Given the description of an element on the screen output the (x, y) to click on. 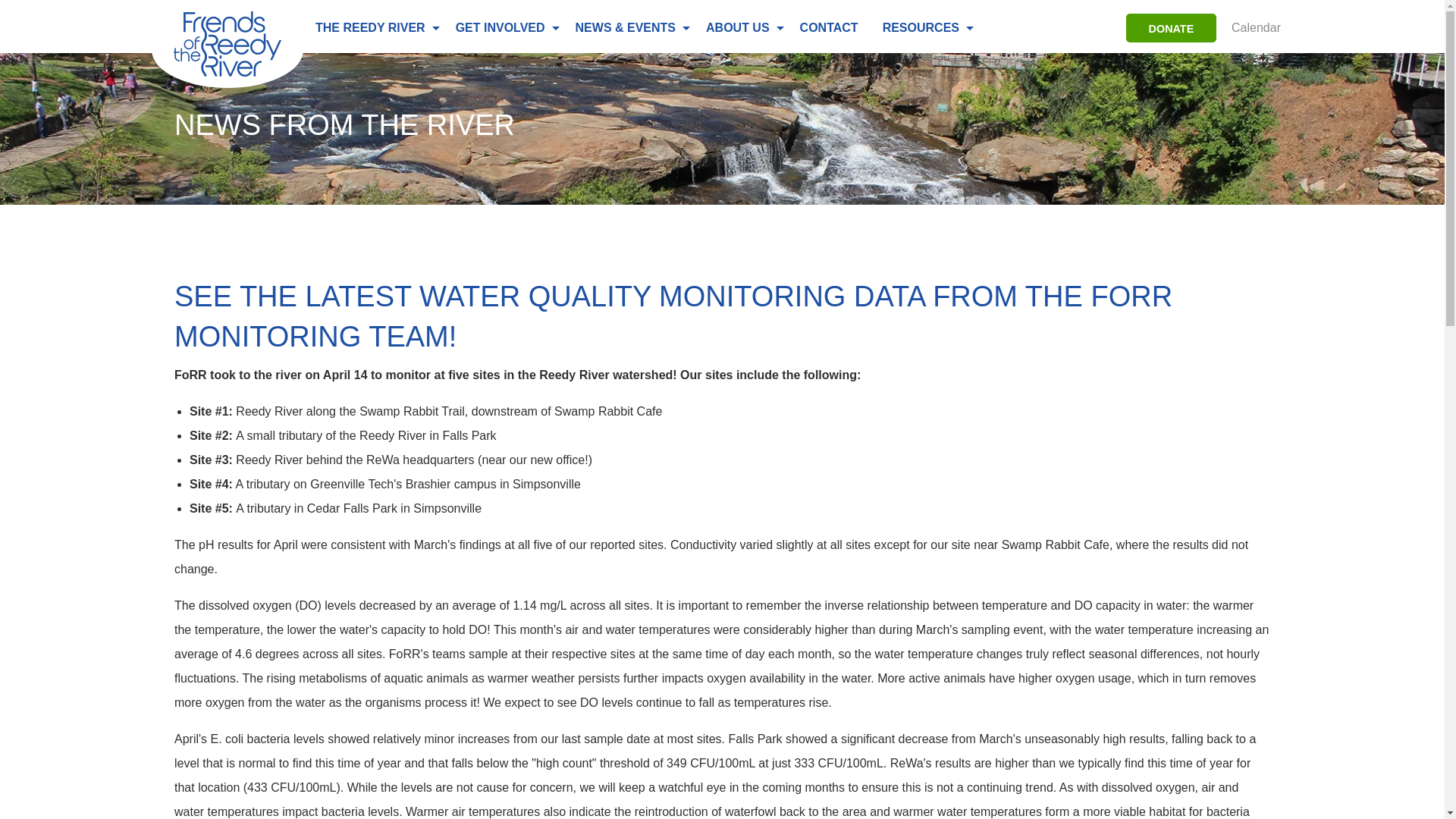
Reedy River (226, 49)
ABOUT US (740, 27)
GET INVOLVED (503, 27)
CONTACT (828, 27)
RESOURCES (923, 27)
Calendar (1253, 27)
DONATE (1170, 27)
THE REEDY RIVER (373, 27)
